Given the description of an element on the screen output the (x, y) to click on. 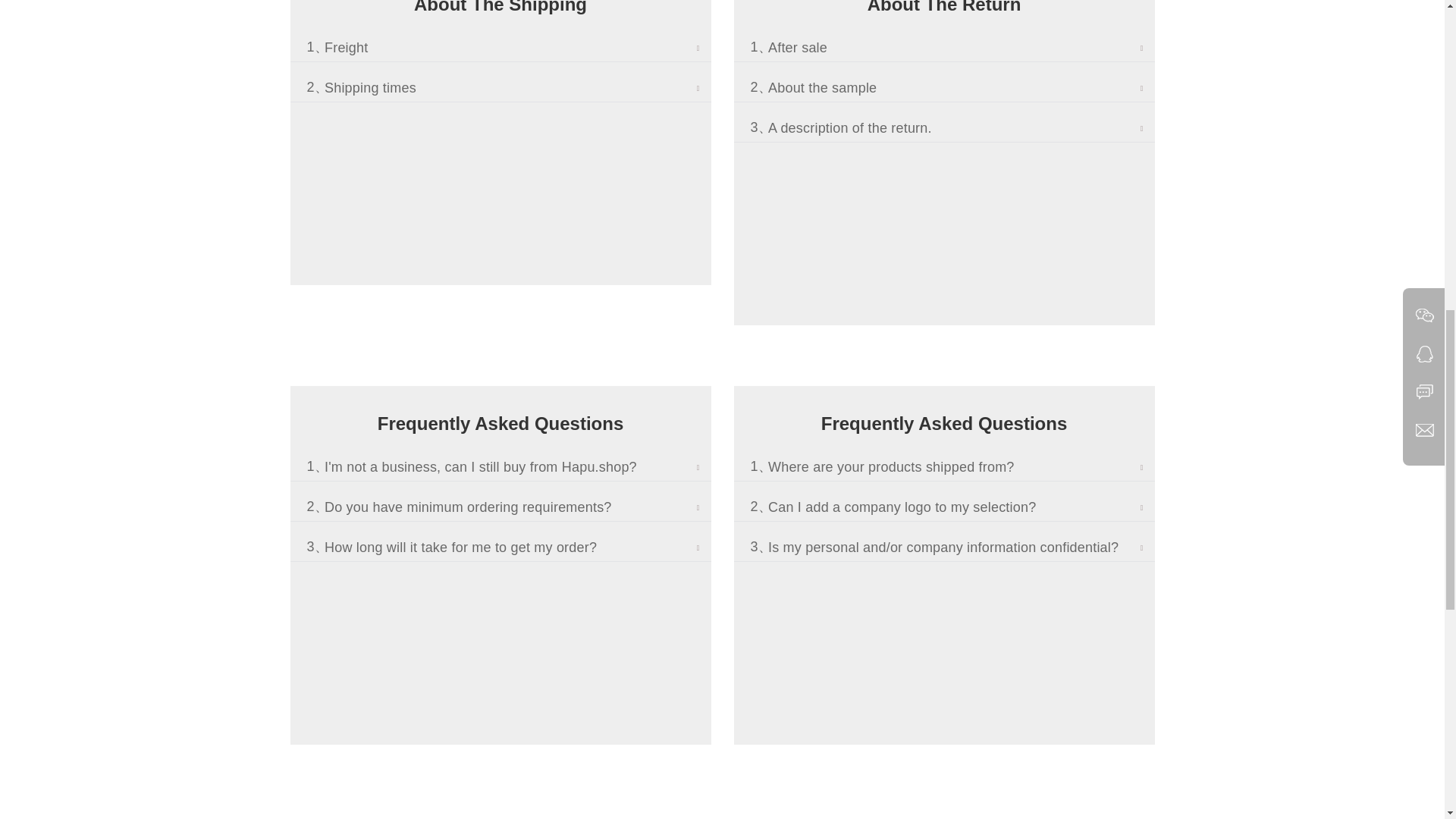
A description of the return. (961, 128)
After sale (961, 48)
I'm not a business, can I still buy from Hapu.shop? (517, 467)
Freight (517, 48)
About the sample (961, 88)
How long will it take for me to get my order? (517, 547)
Do you have minimum ordering requirements? (517, 507)
Shipping times (517, 88)
